Given the description of an element on the screen output the (x, y) to click on. 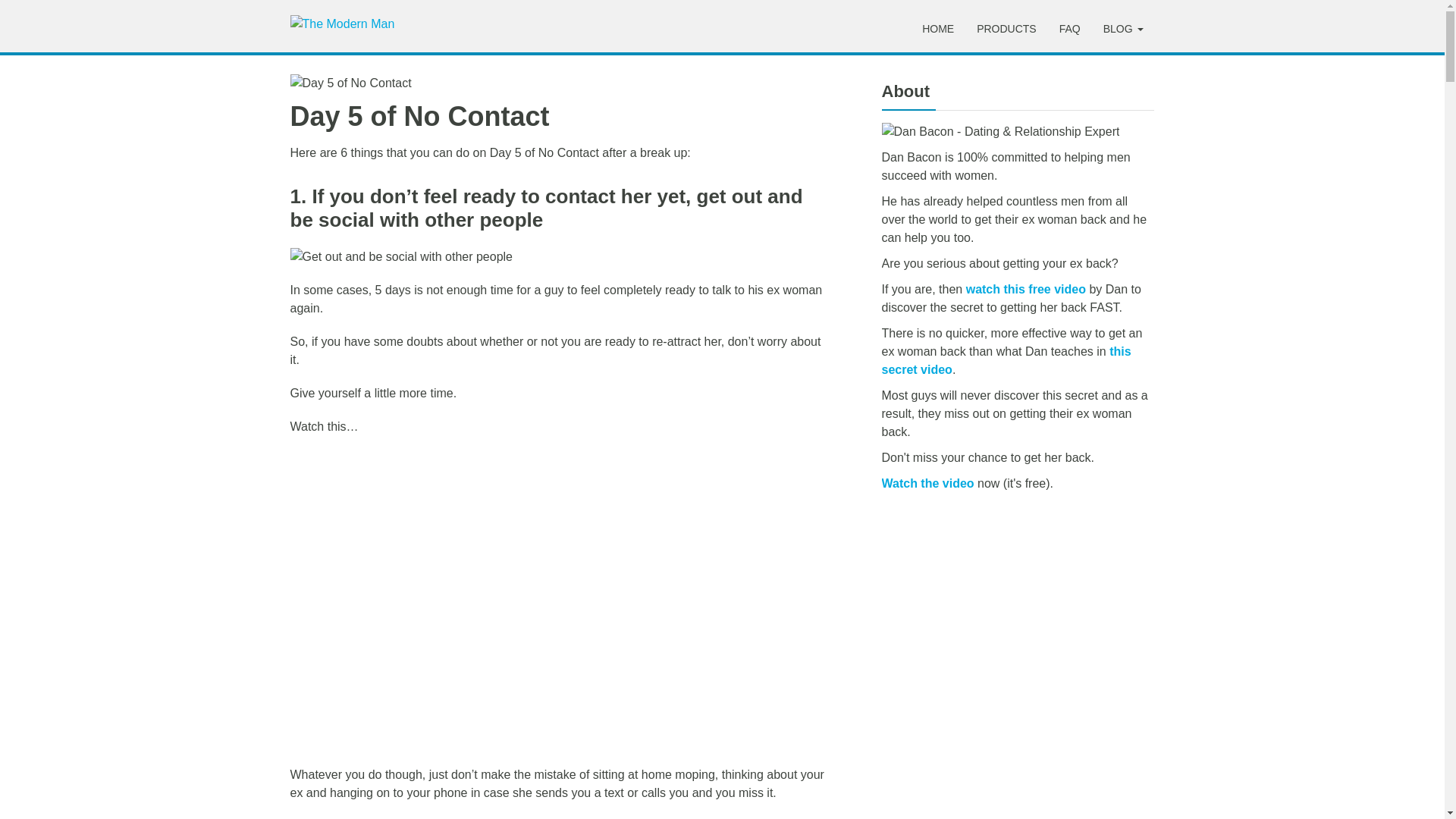
FAQ (1070, 28)
this secret video (1005, 359)
BLOG (1123, 28)
Home (938, 28)
Blog (1123, 28)
FAQ (1070, 28)
Watch the video (927, 482)
PRODUCTS (1006, 28)
HOME (938, 28)
Products (1006, 28)
watch this free video (1027, 288)
